Given the description of an element on the screen output the (x, y) to click on. 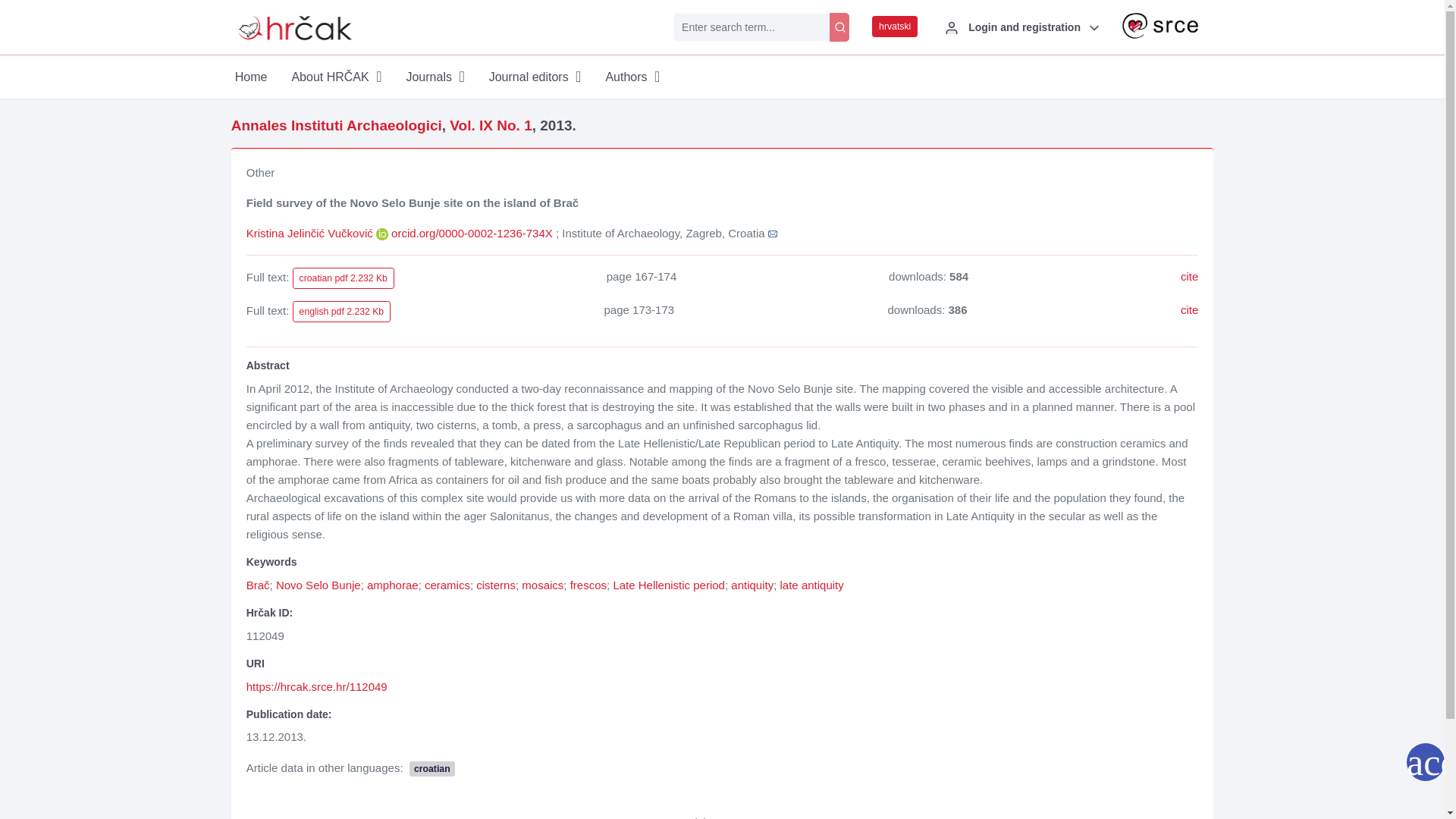
Search (760, 27)
Journal editors (535, 76)
Authors (631, 76)
submit (838, 27)
cite (1189, 276)
Annales Instituti Archaeologici (336, 125)
english pdf 2.232 Kb (341, 311)
Login and registration (1019, 27)
Vol. IX No. 1 (490, 125)
hrvatski (894, 25)
Home (256, 76)
Journals (434, 76)
croatian pdf 2.232 Kb (343, 278)
mail (772, 233)
